Given the description of an element on the screen output the (x, y) to click on. 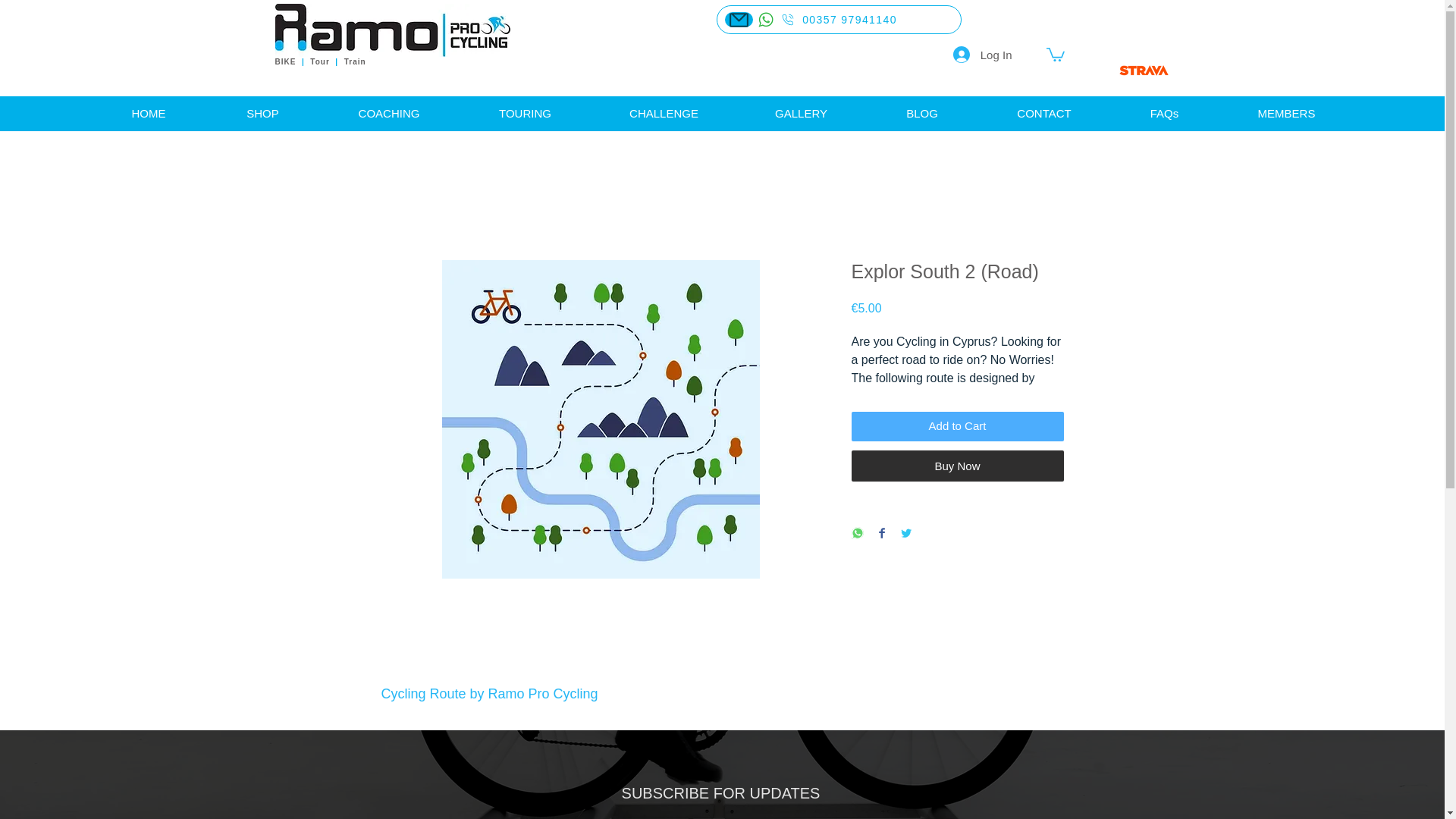
FAQs (1163, 113)
TOURING (525, 113)
COACHING (388, 113)
MEMBERS (1287, 113)
00357 97941140 (838, 19)
CONTACT (1043, 113)
CHALLENGE (663, 113)
Buy Now (956, 465)
Add to Cart (956, 426)
HOME (148, 113)
BLOG (922, 113)
GALLERY (800, 113)
SHOP (262, 113)
Log In (982, 54)
